Given the description of an element on the screen output the (x, y) to click on. 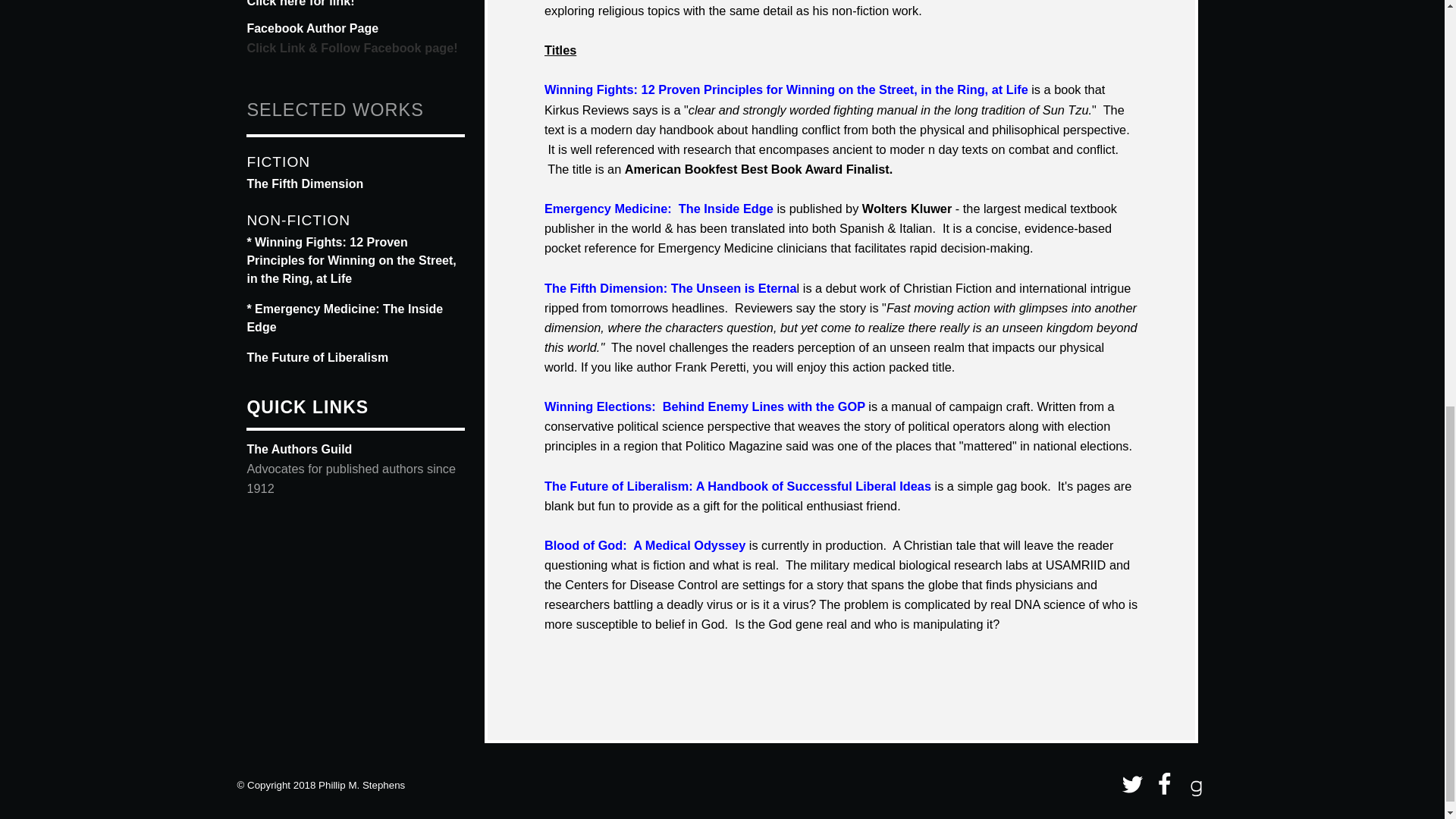
Click here for link! (299, 3)
The Fifth Dimension (304, 183)
The Authors Guild (299, 449)
The Future of Liberalism (317, 357)
Facebook Author Page (312, 28)
